Given the description of an element on the screen output the (x, y) to click on. 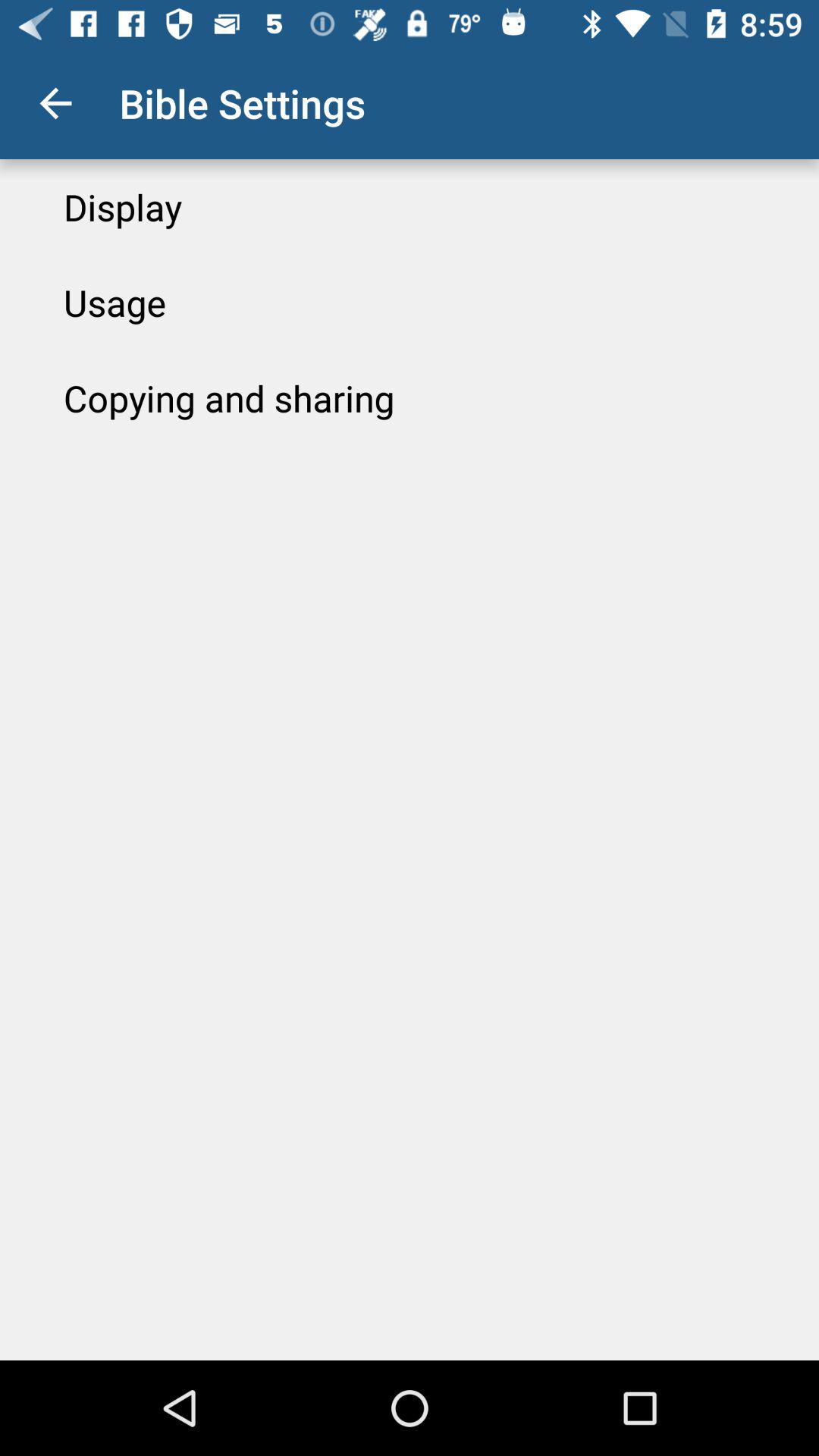
turn off the app next to bible settings icon (55, 103)
